Given the description of an element on the screen output the (x, y) to click on. 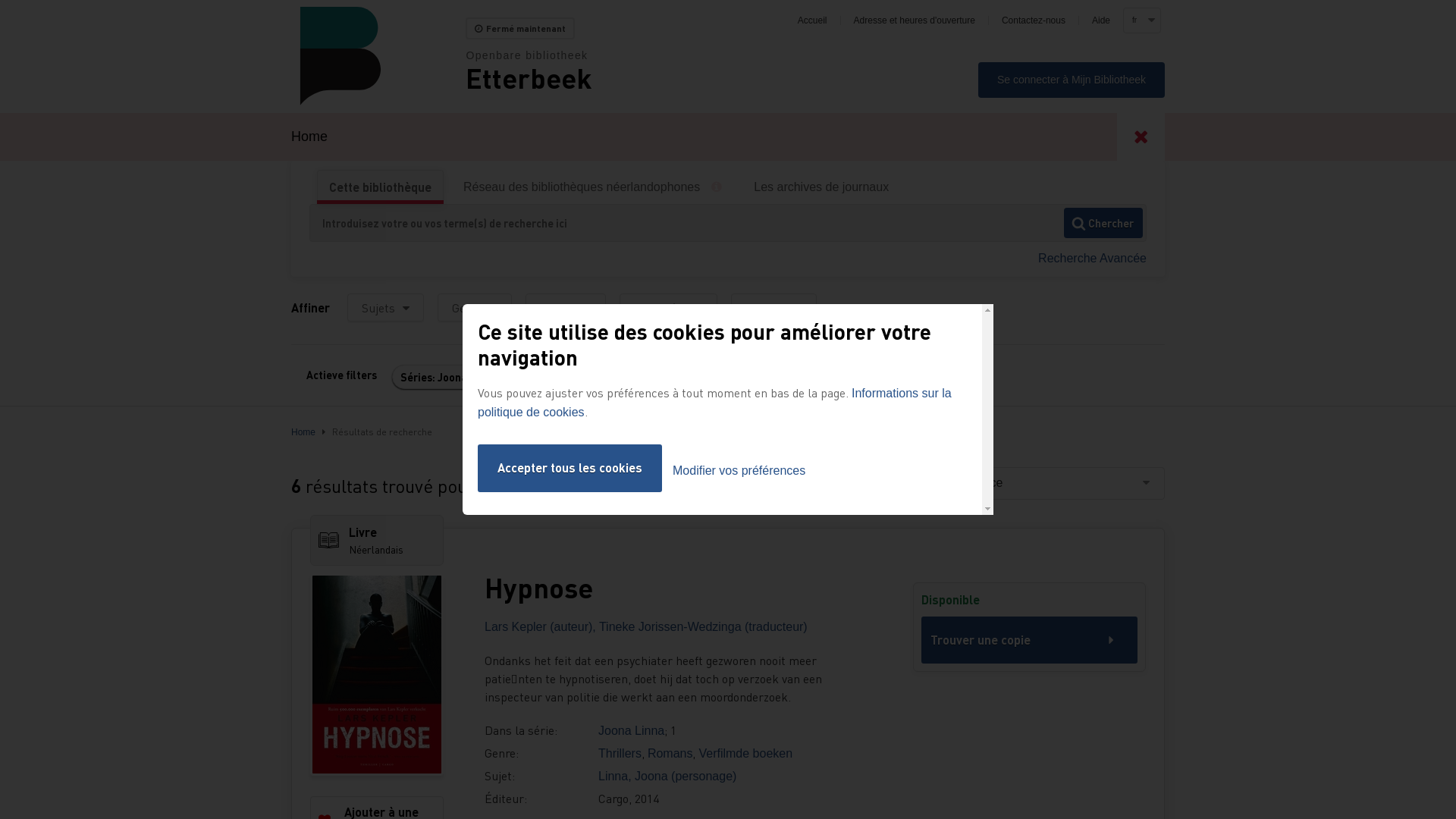
Trouver une copie Element type: text (1029, 639)
Thrillers Element type: text (619, 752)
Hypnose Element type: text (676, 587)
Joona Linna Element type: text (631, 730)
Contactez-nous Element type: text (1033, 20)
Skip to search Element type: text (0, 0)
Home Element type: text (303, 431)
fr Element type: text (1139, 20)
Home Element type: text (309, 136)
Romans Element type: text (670, 752)
Effacer tous les filtres Element type: text (585, 377)
Plus d'information Element type: hover (722, 186)
Pertinence Element type: text (1050, 482)
Home Element type: hover (378, 55)
Les archives de journaux Element type: text (821, 186)
Aide Element type: text (1101, 20)
Chercher Element type: text (1102, 222)
Adresse et heures d'ouverture Element type: text (914, 20)
Verfilmde boeken Element type: text (745, 752)
Toggle search Element type: hover (1140, 136)
Linna, Joona (personage) Element type: text (667, 775)
Lars Kepler (auteur), Element type: text (541, 626)
Accepter tous les cookies Element type: text (569, 467)
Tineke Jorissen-Wedzinga (traducteur) Element type: text (703, 626)
Informations sur la politique de cookies Element type: text (714, 402)
Accueil Element type: text (812, 20)
